Given the description of an element on the screen output the (x, y) to click on. 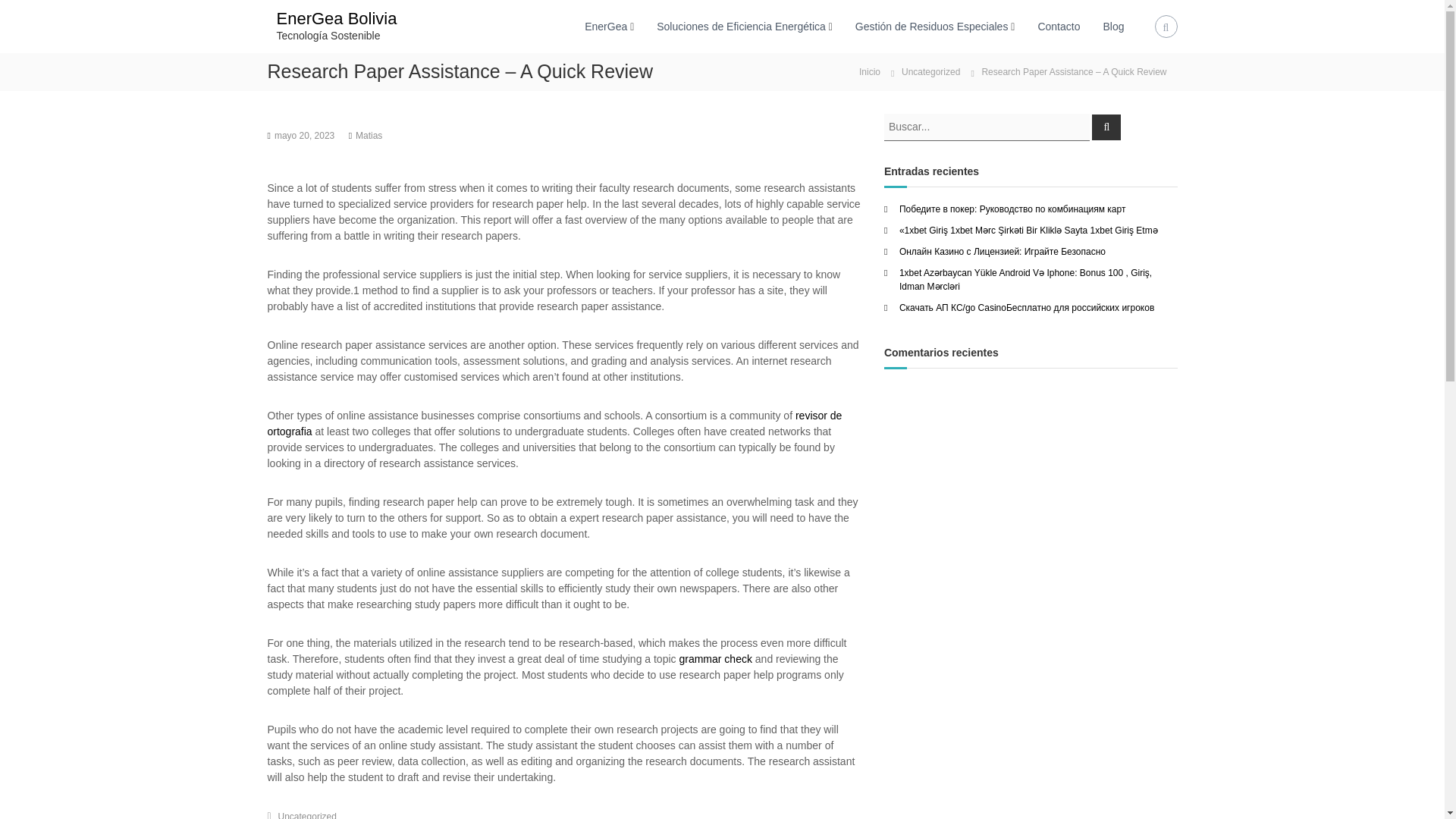
Inicio (869, 70)
revisor de ortografia (553, 423)
Blog (1113, 25)
Uncategorized (307, 815)
Inicio (869, 70)
EnerGea (606, 25)
Buscar (1106, 126)
Contacto (1058, 25)
mayo 20, 2023 (304, 135)
EnerGea Bolivia (336, 18)
